Given the description of an element on the screen output the (x, y) to click on. 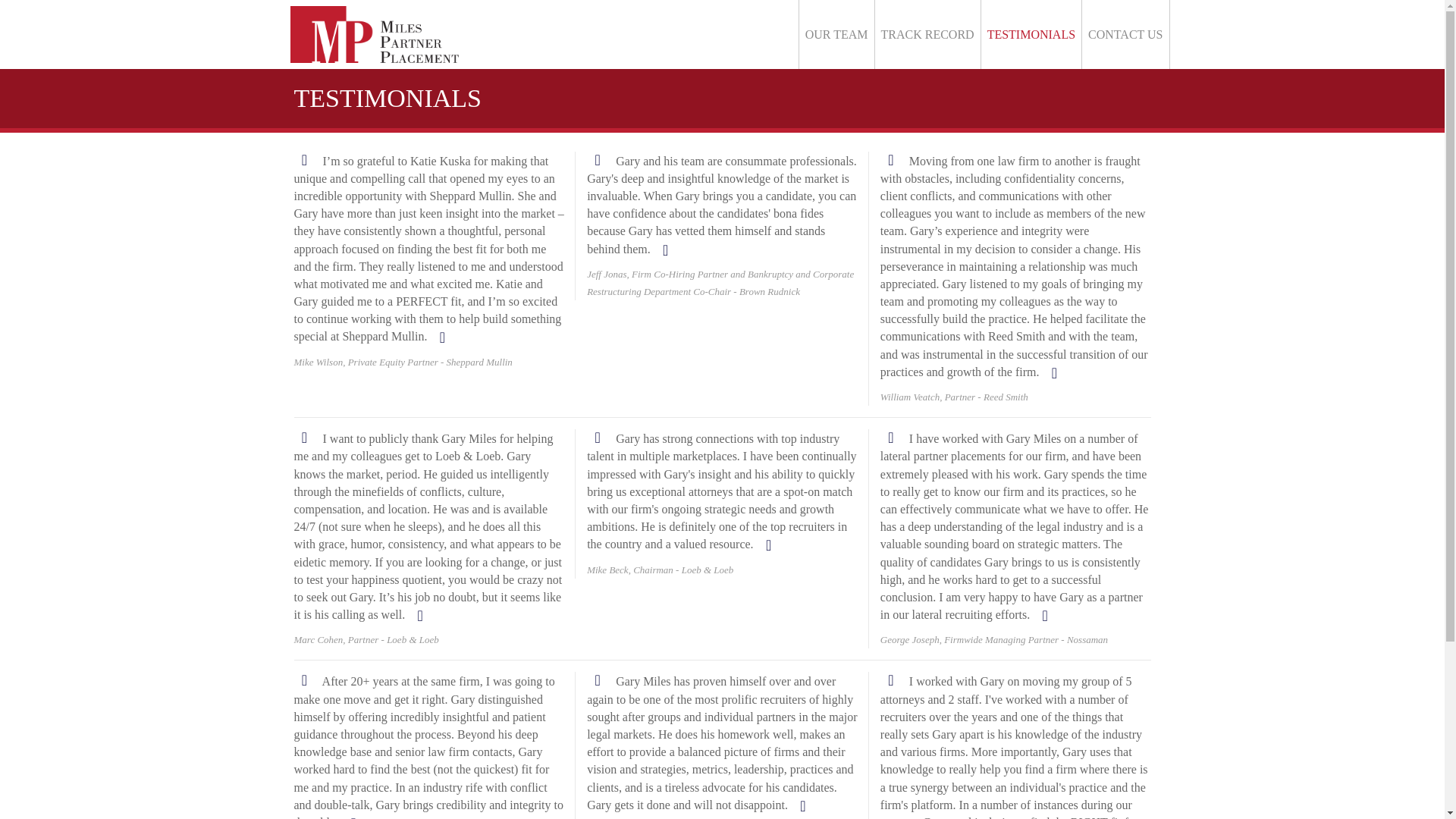
TRACK RECORD (928, 34)
Miles Partner Placement (373, 32)
CONTACT US (1125, 34)
OUR TEAM (836, 34)
TESTIMONIALS (1031, 34)
